Given the description of an element on the screen output the (x, y) to click on. 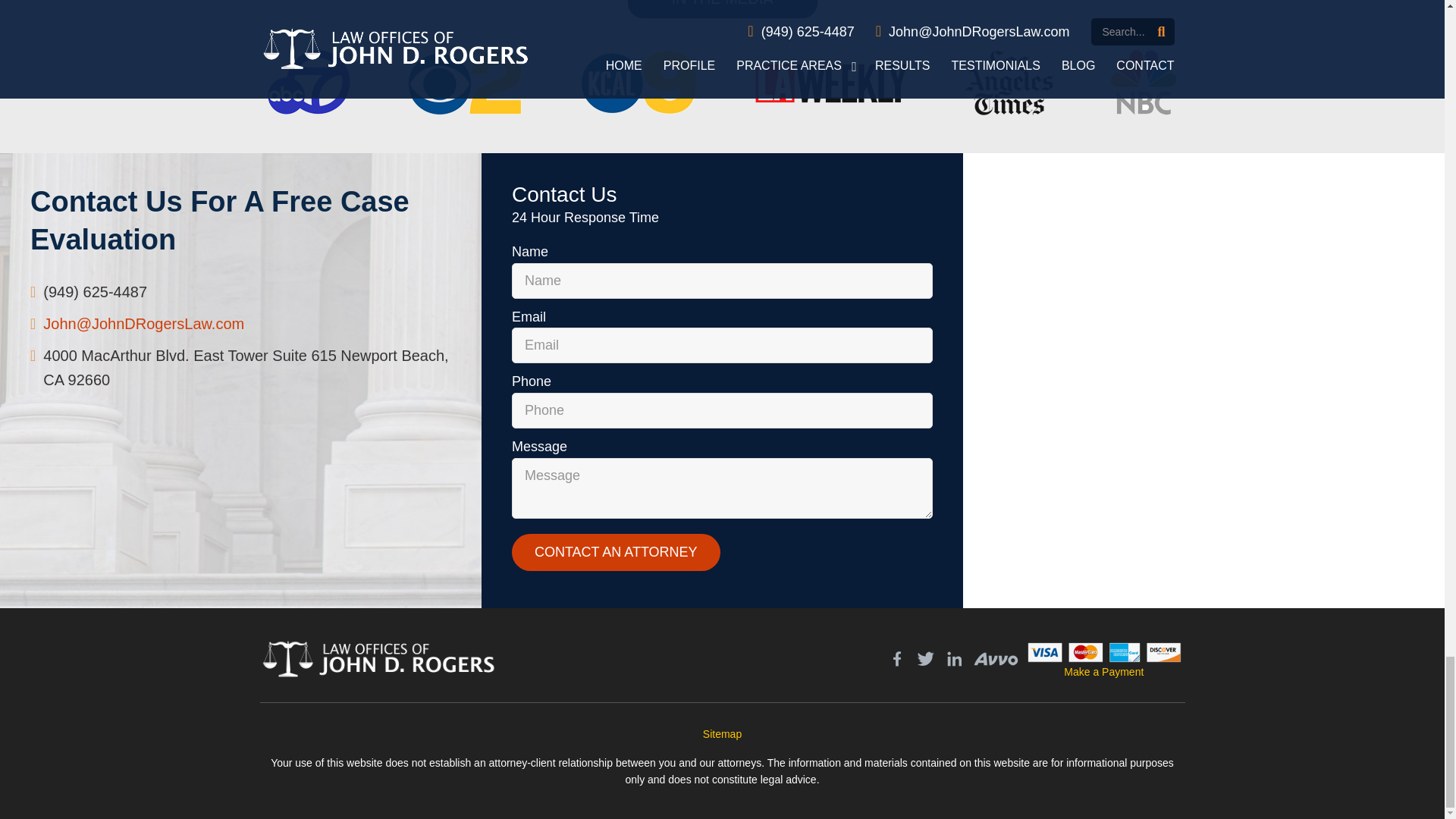
Contact an Attorney (616, 551)
